Given the description of an element on the screen output the (x, y) to click on. 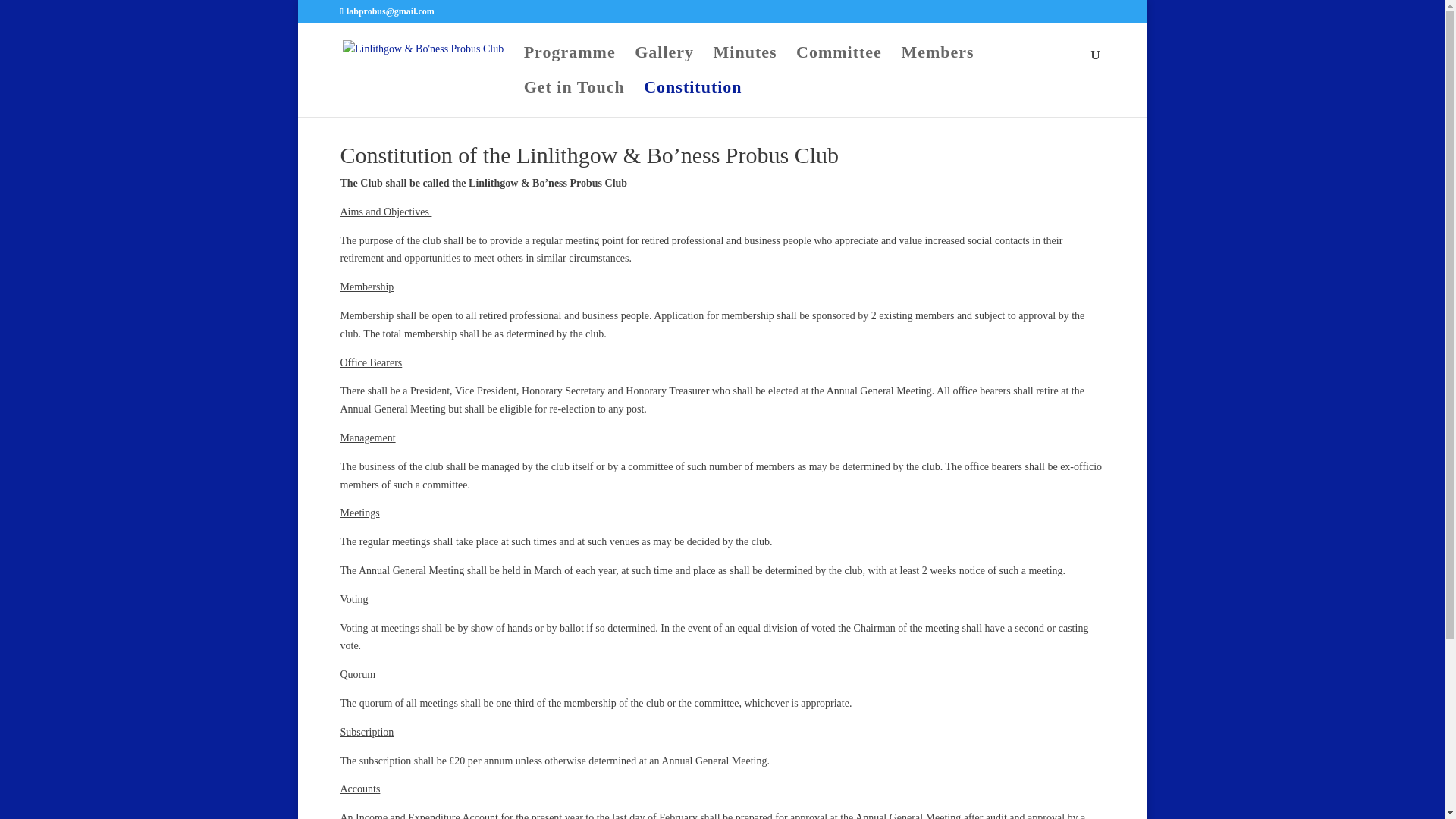
Minutes (745, 63)
Gallery (664, 63)
Get in Touch (574, 99)
Constitution (692, 99)
Committee (839, 63)
Members (937, 63)
Programme (569, 63)
